Given the description of an element on the screen output the (x, y) to click on. 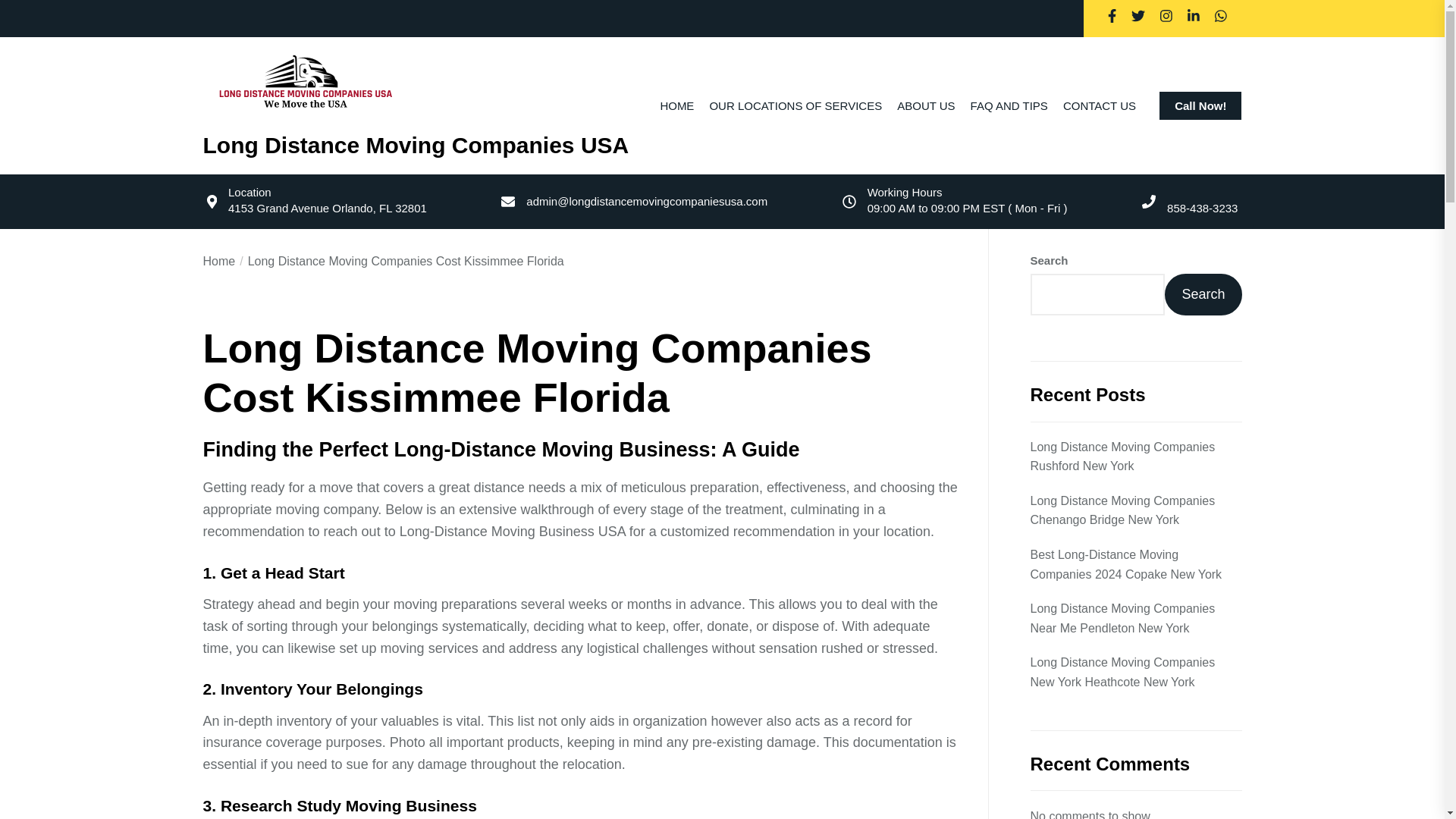
Home (219, 260)
Long Distance Moving Companies Chenango Bridge New York (1135, 510)
FAQ AND TIPS (1009, 105)
OUR LOCATIONS OF SERVICES (795, 105)
ABOUT US (925, 105)
Long Distance Moving Companies Rushford New York (1135, 456)
Search (1202, 294)
Long Distance Moving Companies USA (415, 144)
Call Now! (1199, 105)
HOME (676, 105)
